Given the description of an element on the screen output the (x, y) to click on. 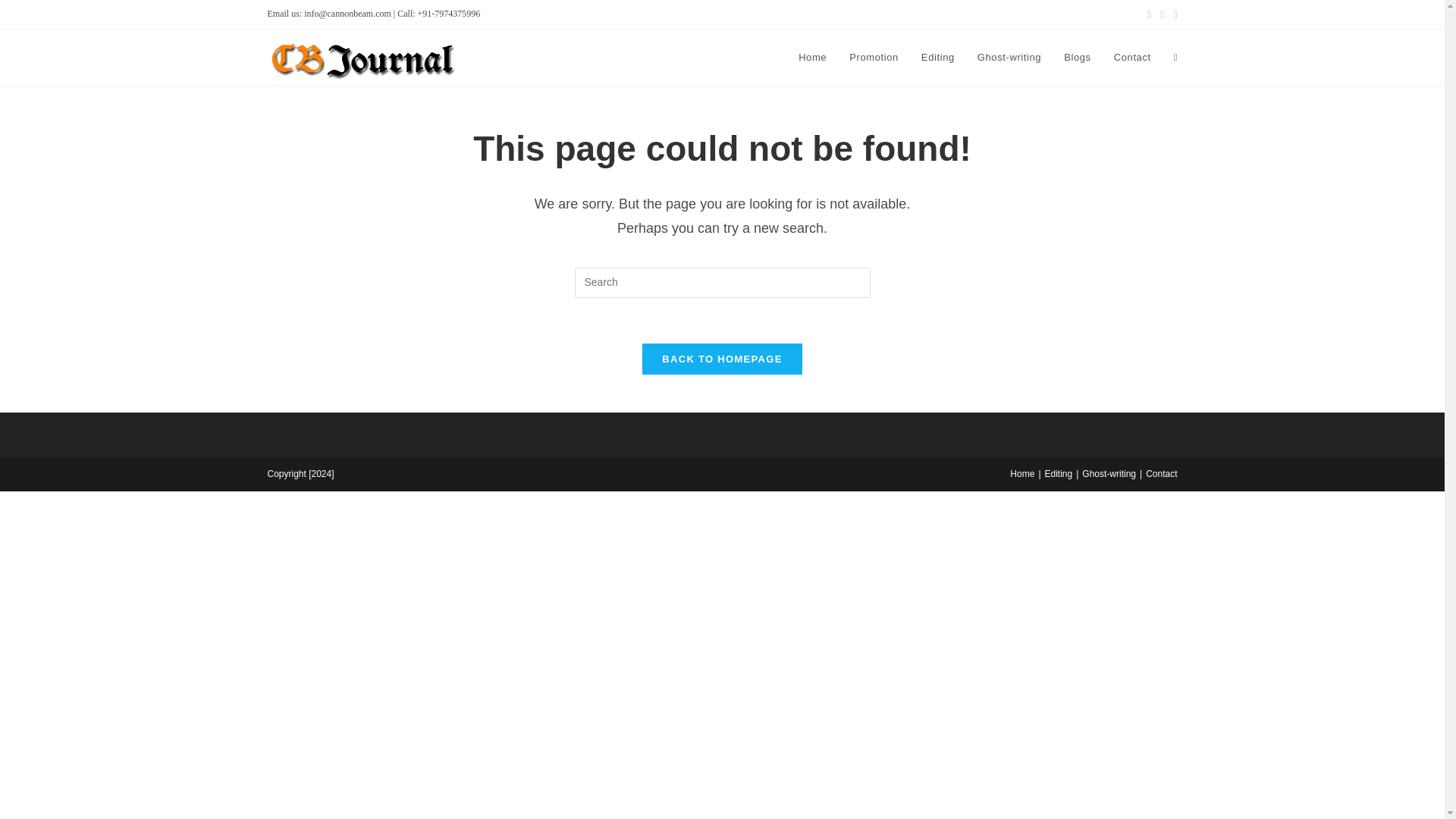
Home (812, 57)
Editing (938, 57)
Ghost-writing (1108, 473)
Contact (1131, 57)
Ghost-writing (1009, 57)
BACK TO HOMEPAGE (722, 358)
Promotion (874, 57)
Home (1021, 473)
Editing (1059, 473)
Blogs (1077, 57)
Contact (1160, 473)
